Given the description of an element on the screen output the (x, y) to click on. 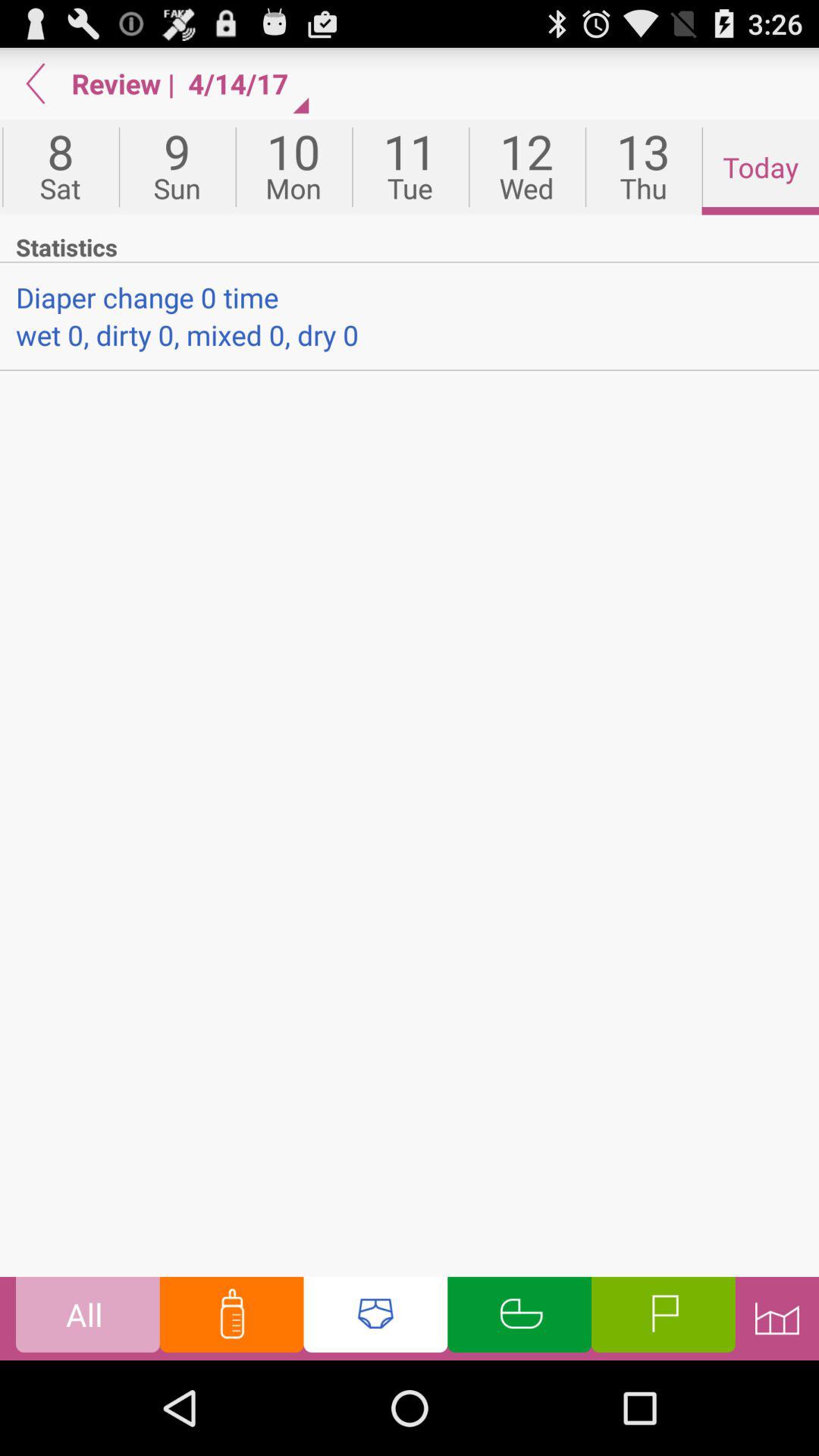
tap item to the right of 9 icon (293, 166)
